Given the description of an element on the screen output the (x, y) to click on. 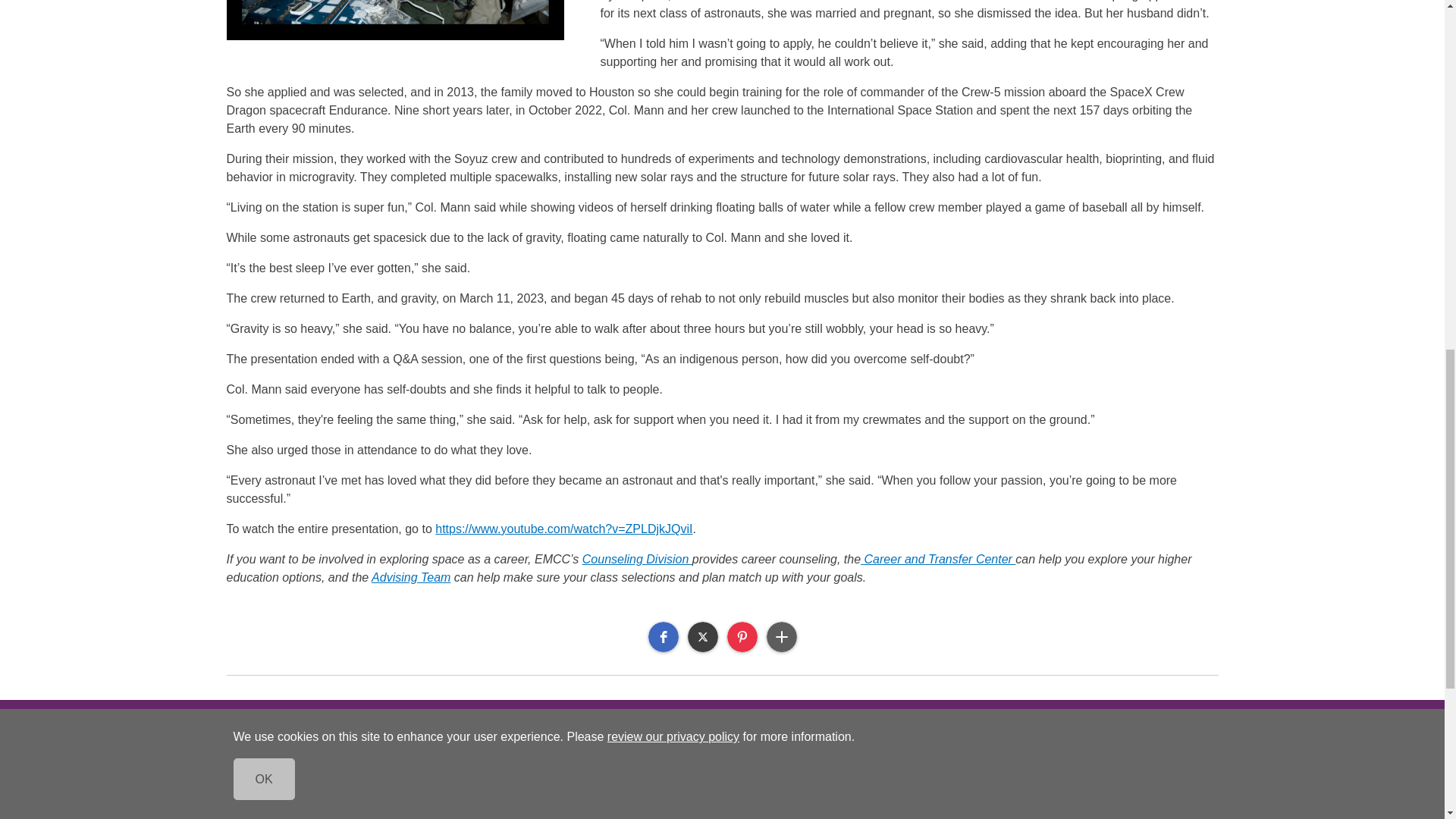
Career and Transfer Center  (937, 558)
About Our College (361, 761)
Athletics (361, 789)
Counseling Division  (637, 558)
Advising Team (410, 576)
Pinterest (741, 636)
Facebook (662, 636)
More (780, 636)
Class Schedule (361, 811)
Twitter (702, 636)
